Given the description of an element on the screen output the (x, y) to click on. 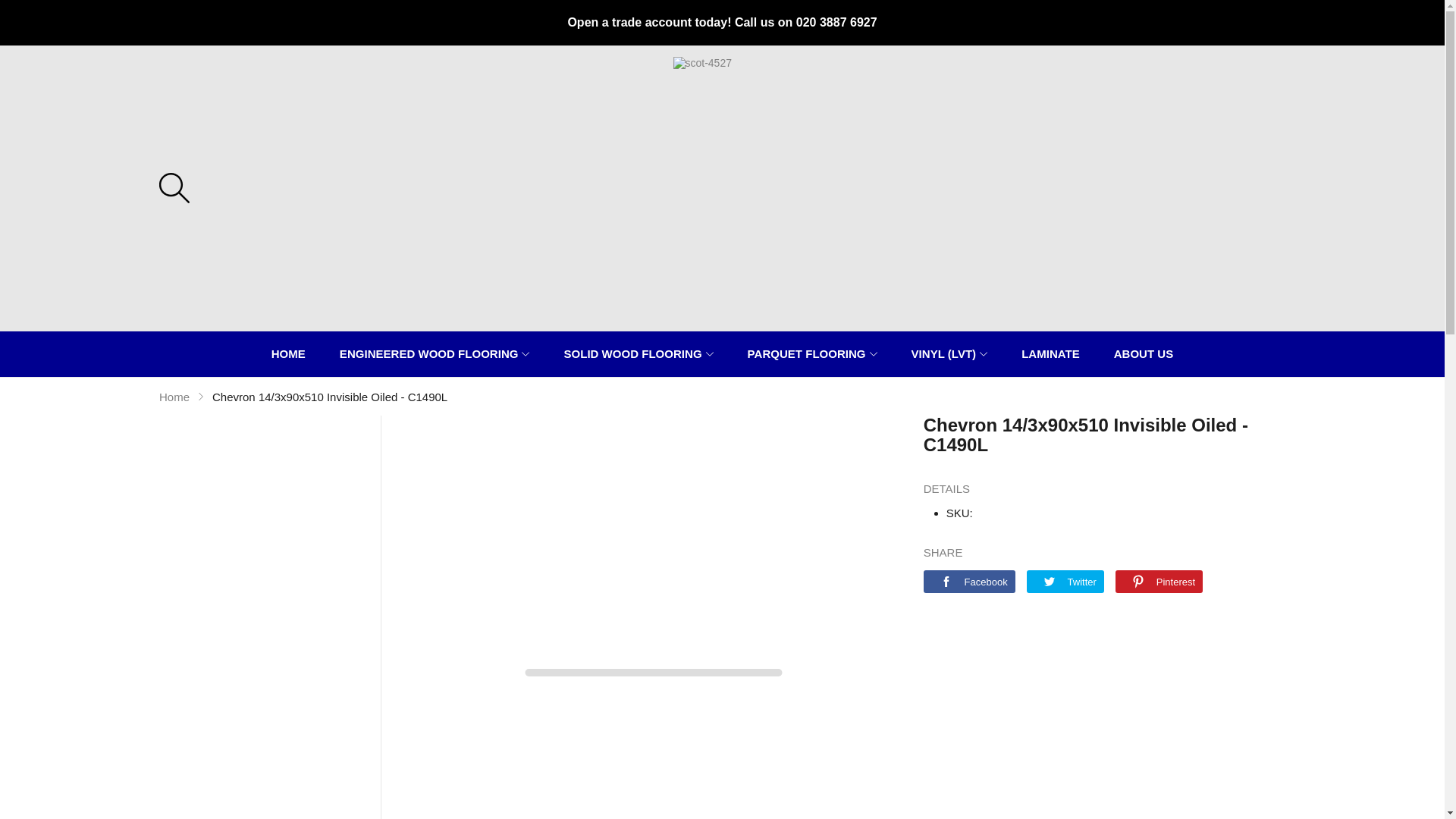
Back to the frontpage (173, 395)
